Given the description of an element on the screen output the (x, y) to click on. 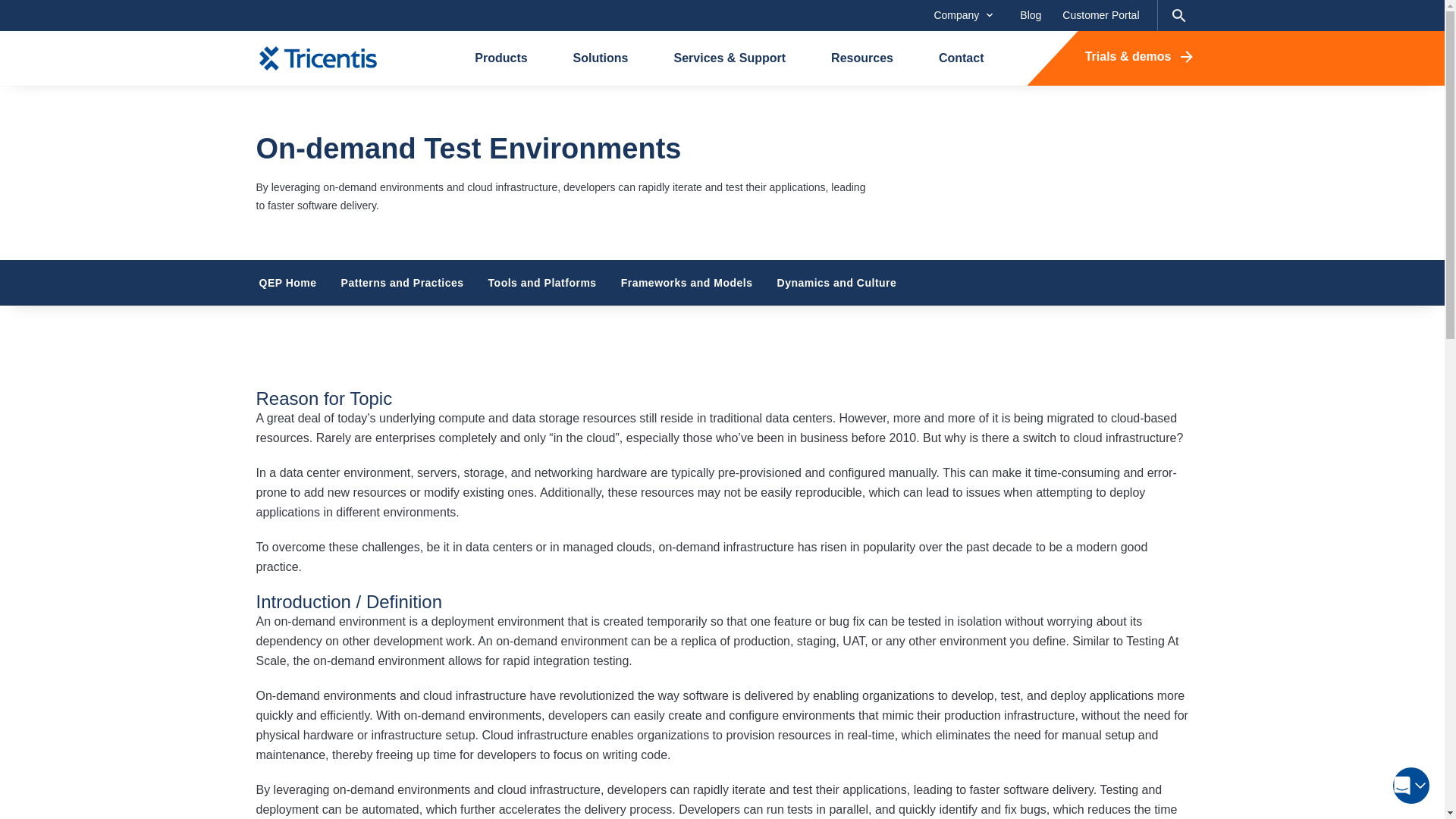
Customer Portal (1100, 15)
Company (962, 14)
Blog (1030, 15)
